Given the description of an element on the screen output the (x, y) to click on. 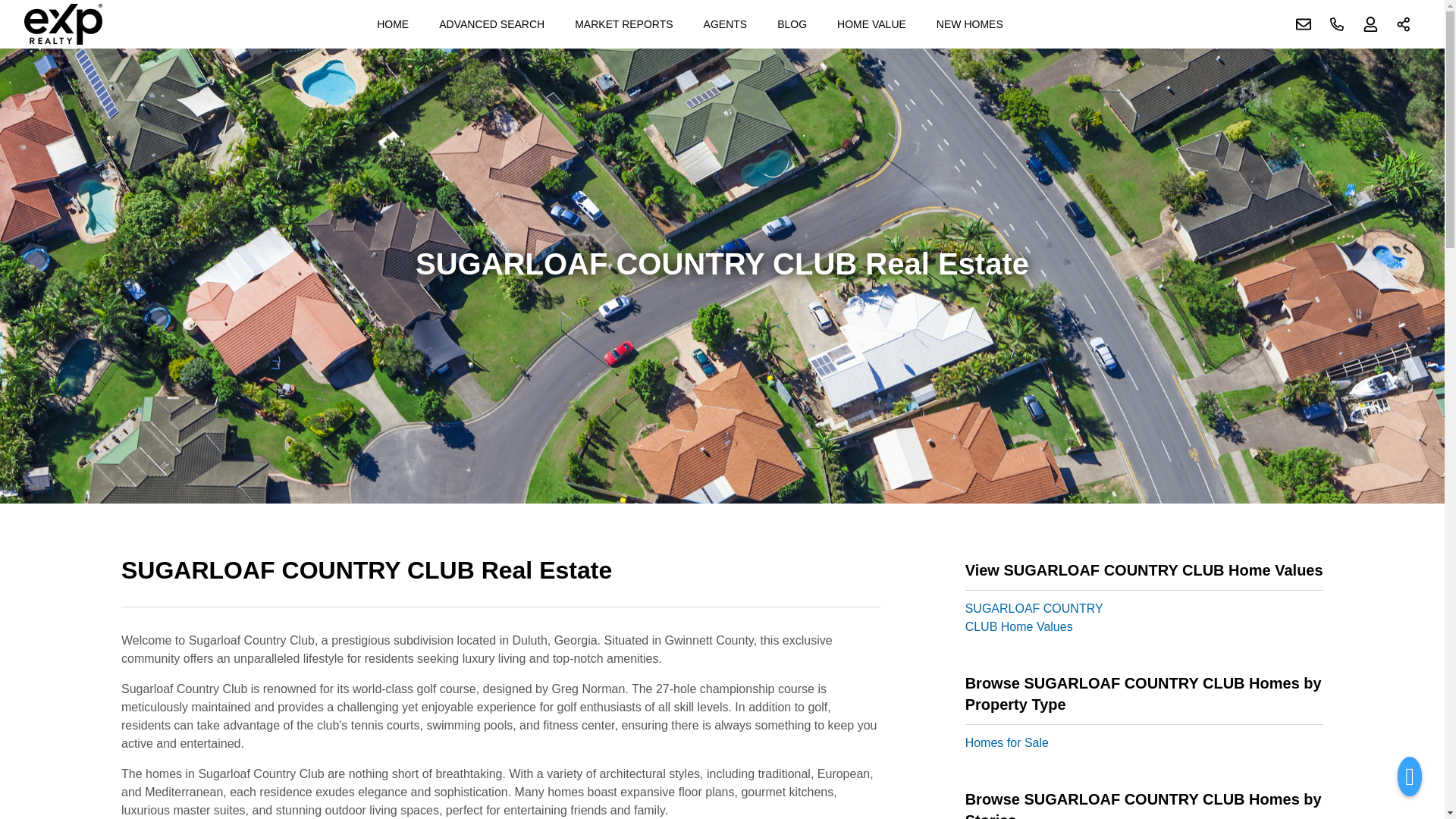
NEW HOMES (969, 24)
SUGARLOAF COUNTRY CLUB Real Estate (500, 579)
Share (1404, 23)
BLOG (791, 24)
Searchhomesatlanta.com (62, 24)
HOME VALUE (871, 24)
AGENTS (725, 24)
MARKET REPORTS (623, 24)
Sign up or Sign in (1370, 23)
Phone number (1337, 23)
